Given the description of an element on the screen output the (x, y) to click on. 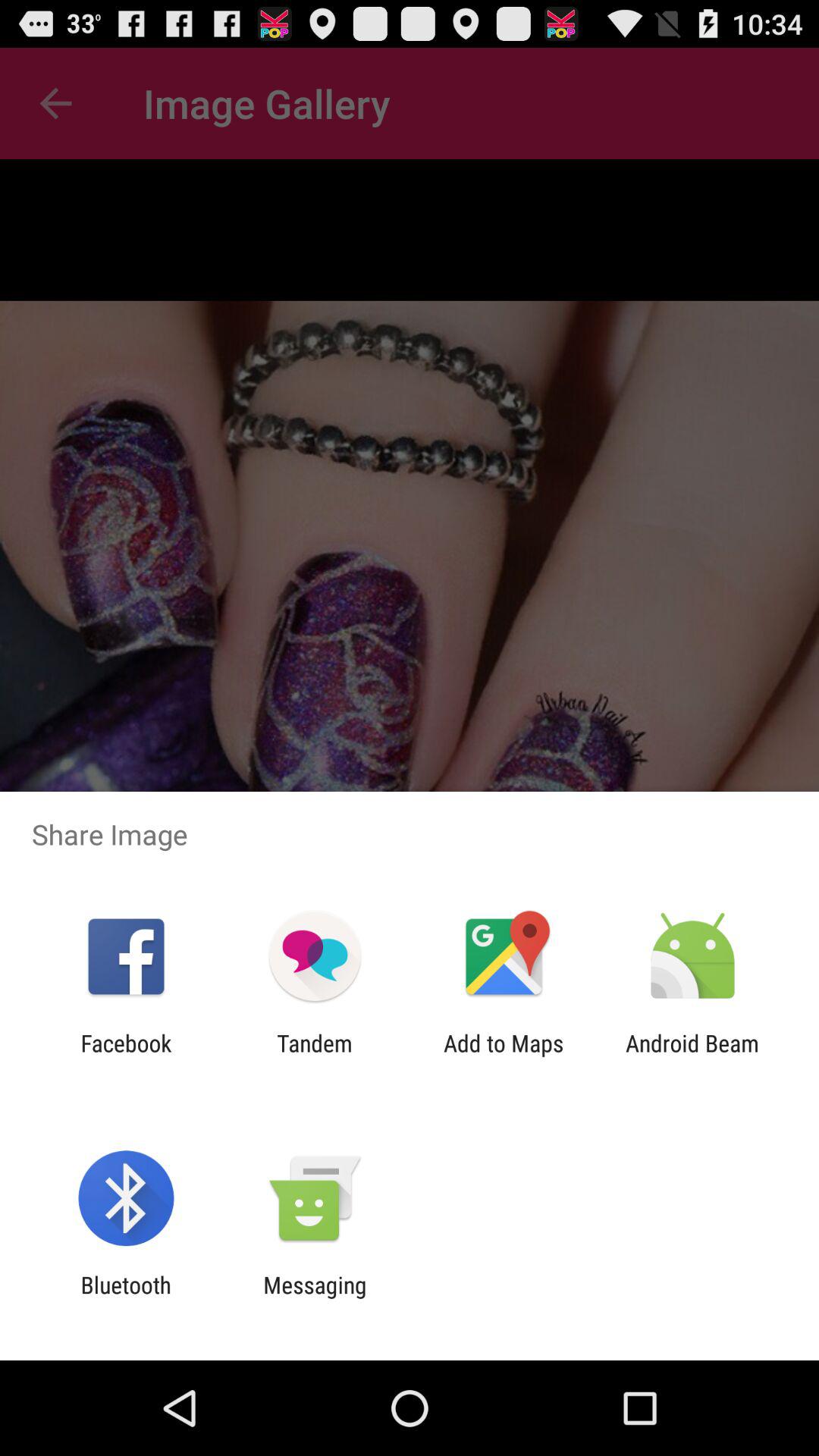
turn off the icon at the bottom right corner (692, 1056)
